Given the description of an element on the screen output the (x, y) to click on. 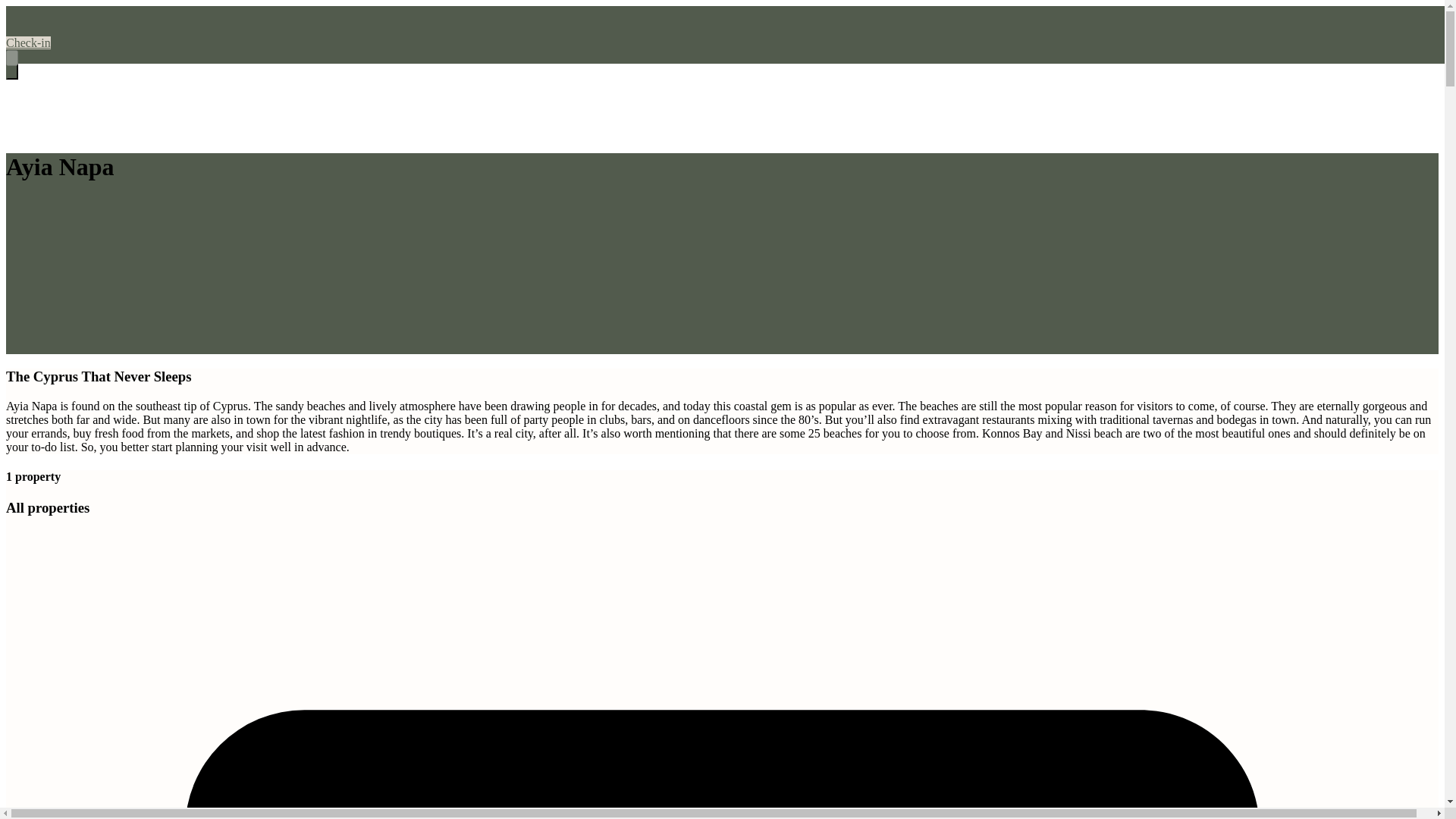
Check-in (27, 42)
